Given the description of an element on the screen output the (x, y) to click on. 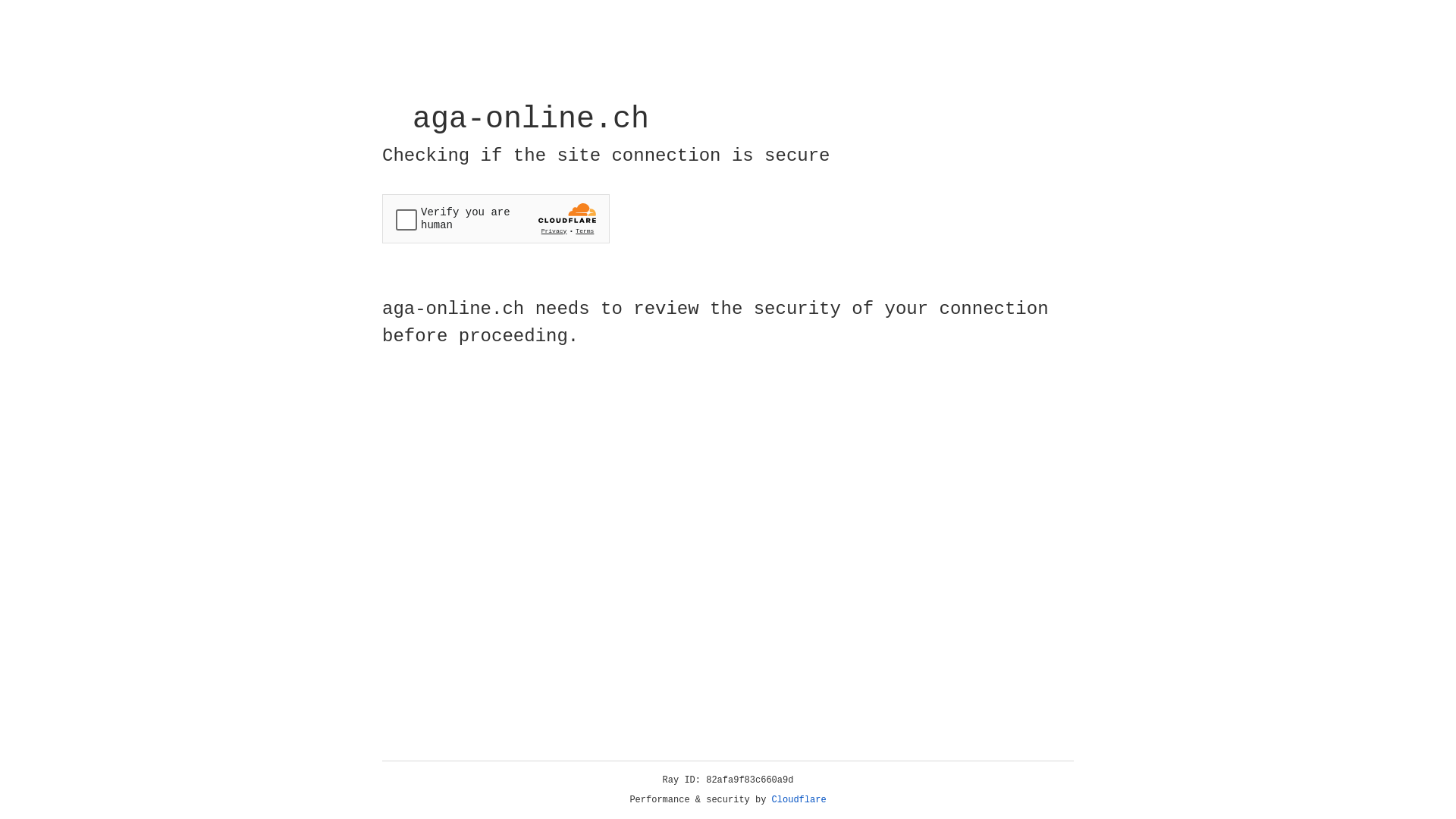
Cloudflare Element type: text (798, 799)
Widget containing a Cloudflare security challenge Element type: hover (495, 218)
